Given the description of an element on the screen output the (x, y) to click on. 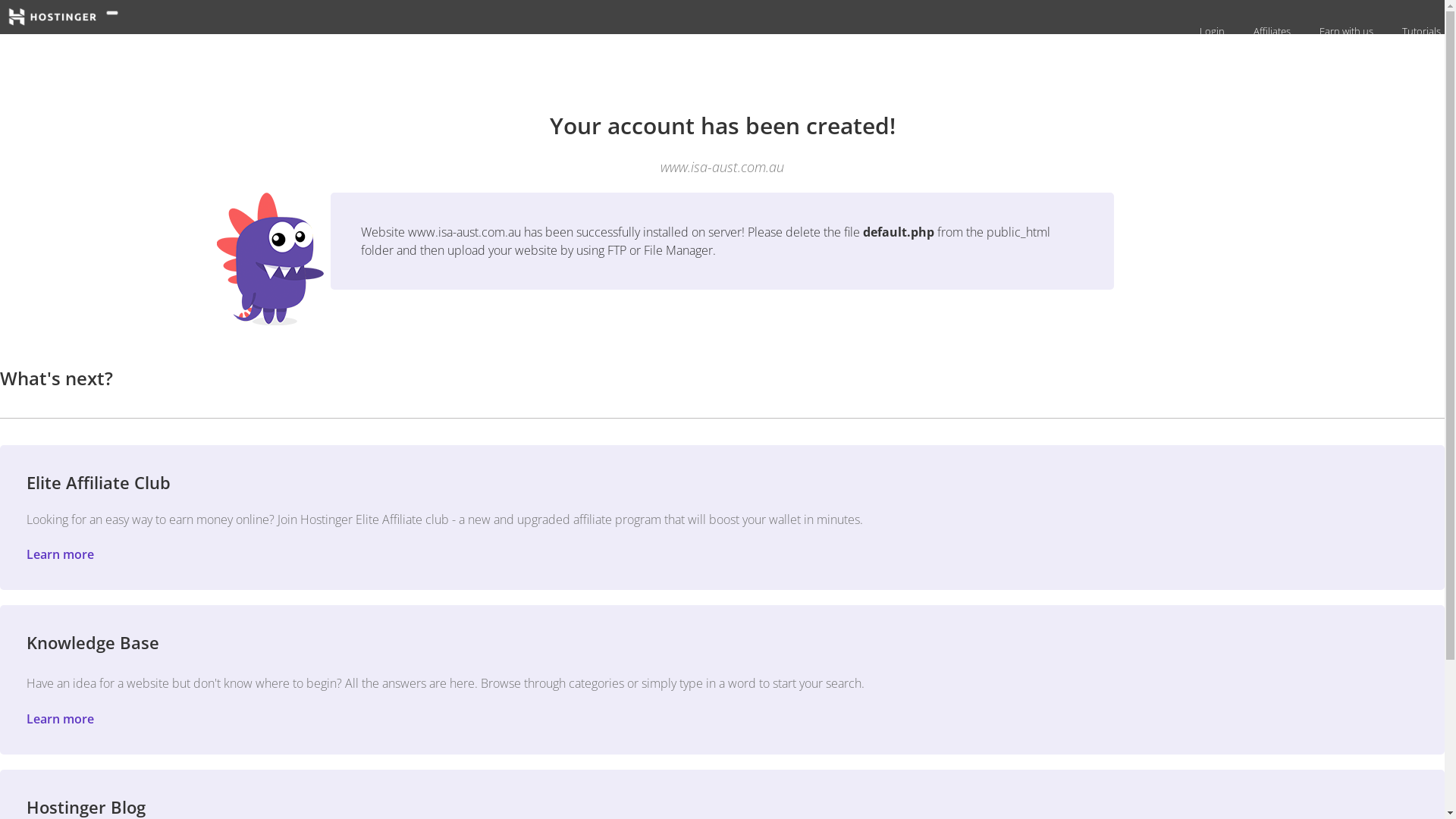
Learn more Element type: text (60, 554)
Login Element type: text (1210, 30)
Learn more Element type: text (60, 718)
Tutorials Element type: text (1419, 30)
Earn with us Element type: text (1344, 30)
Affiliates Element type: text (1269, 30)
